Given the description of an element on the screen output the (x, y) to click on. 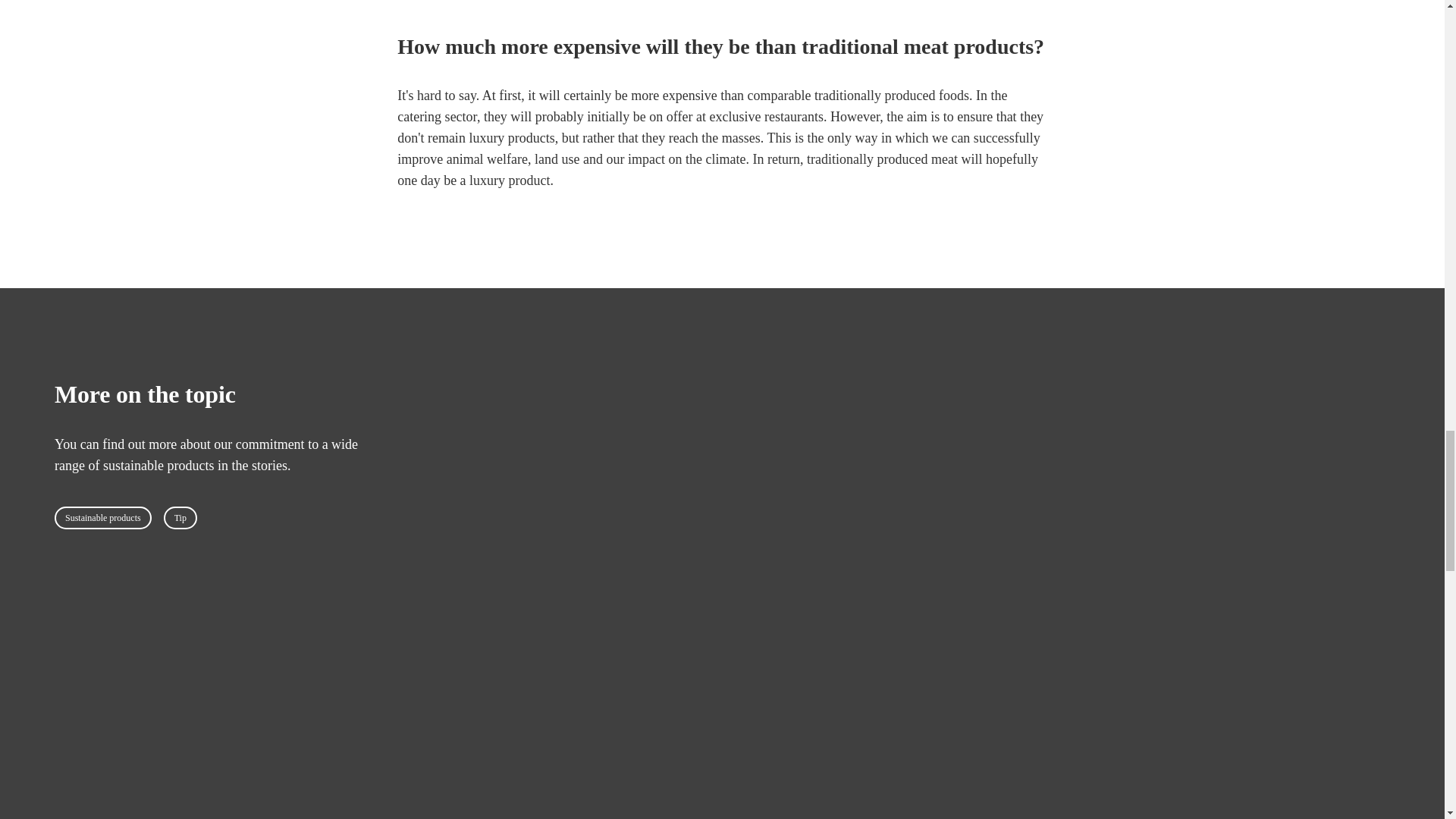
Tip (179, 517)
Sustainable products (103, 517)
